Given the description of an element on the screen output the (x, y) to click on. 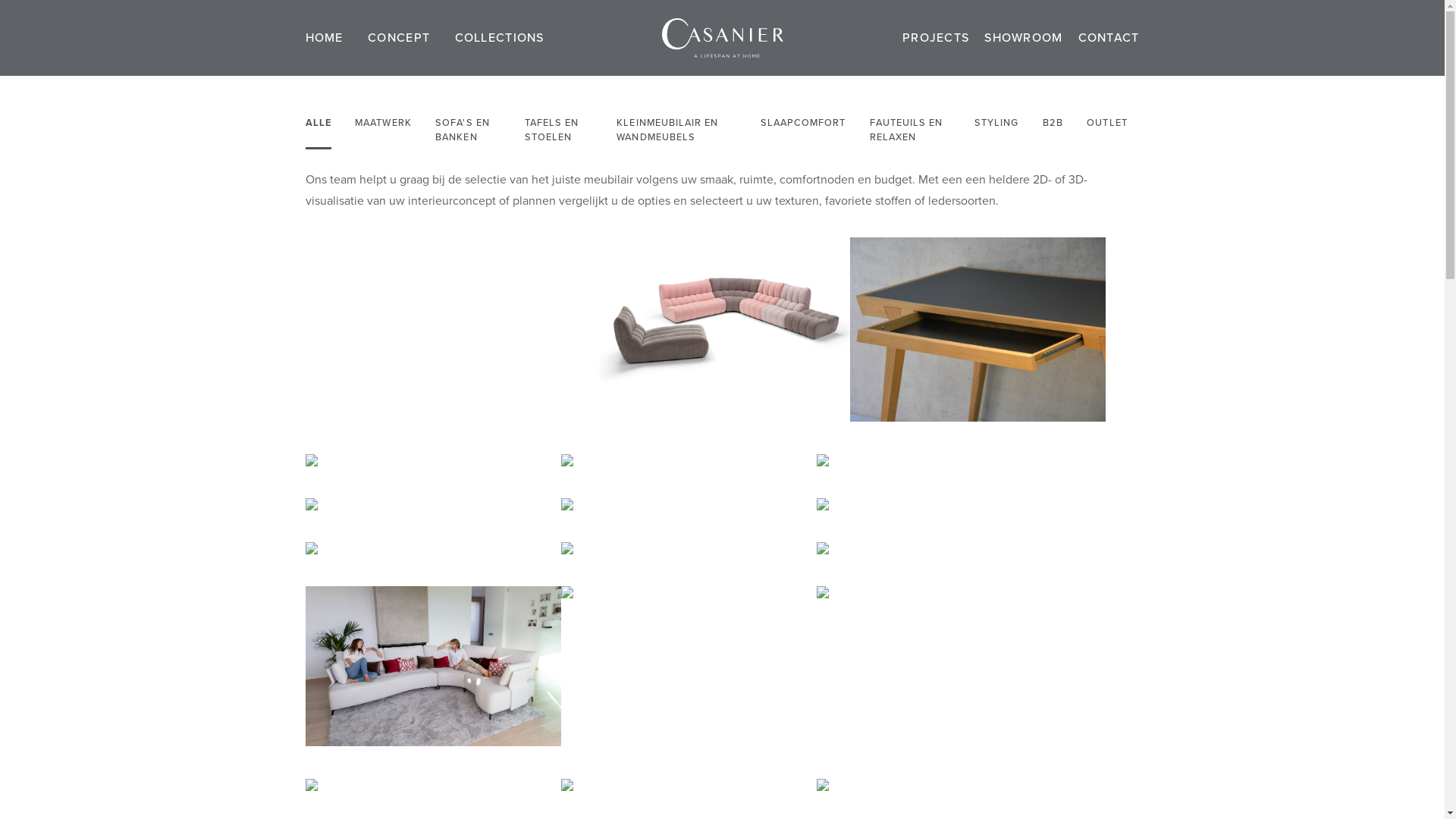
CONCEPT Element type: text (398, 37)
PROJECTS Element type: text (935, 37)
HOME Element type: text (323, 37)
COLLECTIONS Element type: text (499, 37)
CONTACT Element type: text (1108, 37)
SHOWROOM Element type: text (1023, 37)
